Given the description of an element on the screen output the (x, y) to click on. 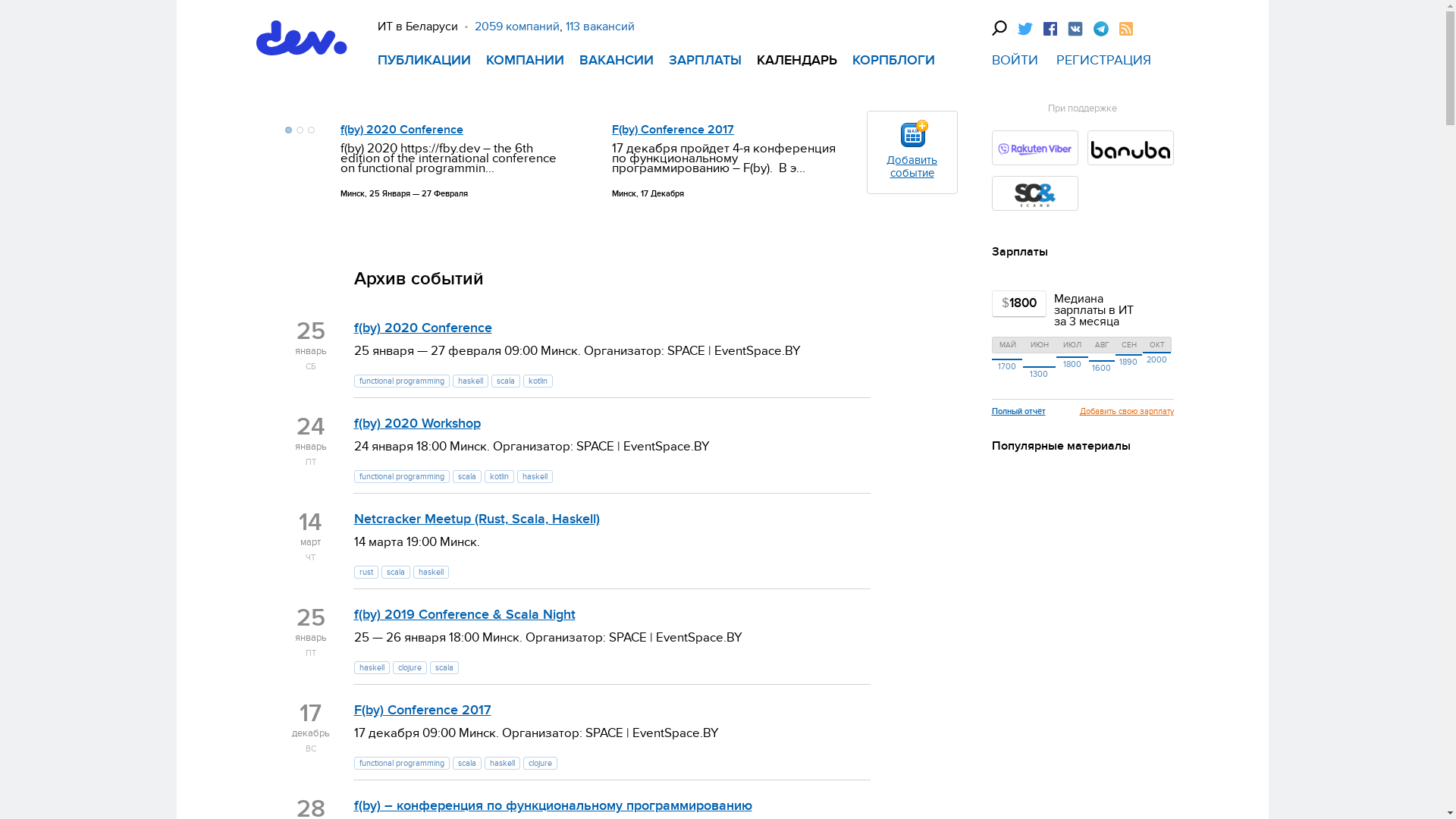
F(by) Conference 2017 Element type: text (672, 129)
f(by) 2020 Workshop Element type: text (416, 423)
f(by) 2020 Conference Element type: text (422, 327)
f(by) 2019 Conference & Scala Night Element type: text (463, 614)
f(by) 2020 Conference Element type: text (401, 129)
F(by) Conference 2017 Element type: text (421, 710)
Netcracker Meetup (Rust, Scala, Haskell) Element type: text (476, 519)
